Given the description of an element on the screen output the (x, y) to click on. 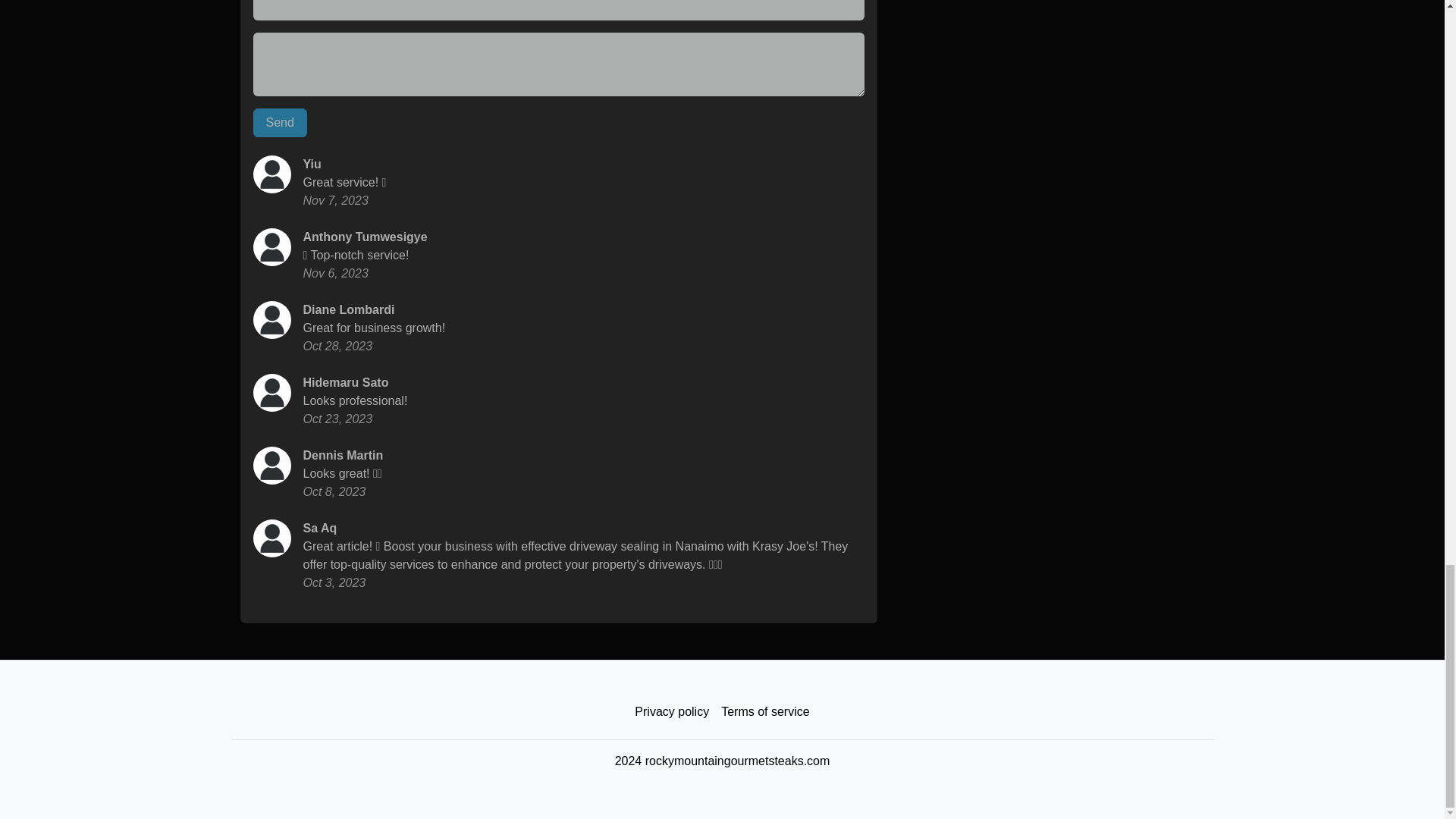
Send (280, 122)
Terms of service (764, 711)
Privacy policy (671, 711)
Send (280, 122)
